Given the description of an element on the screen output the (x, y) to click on. 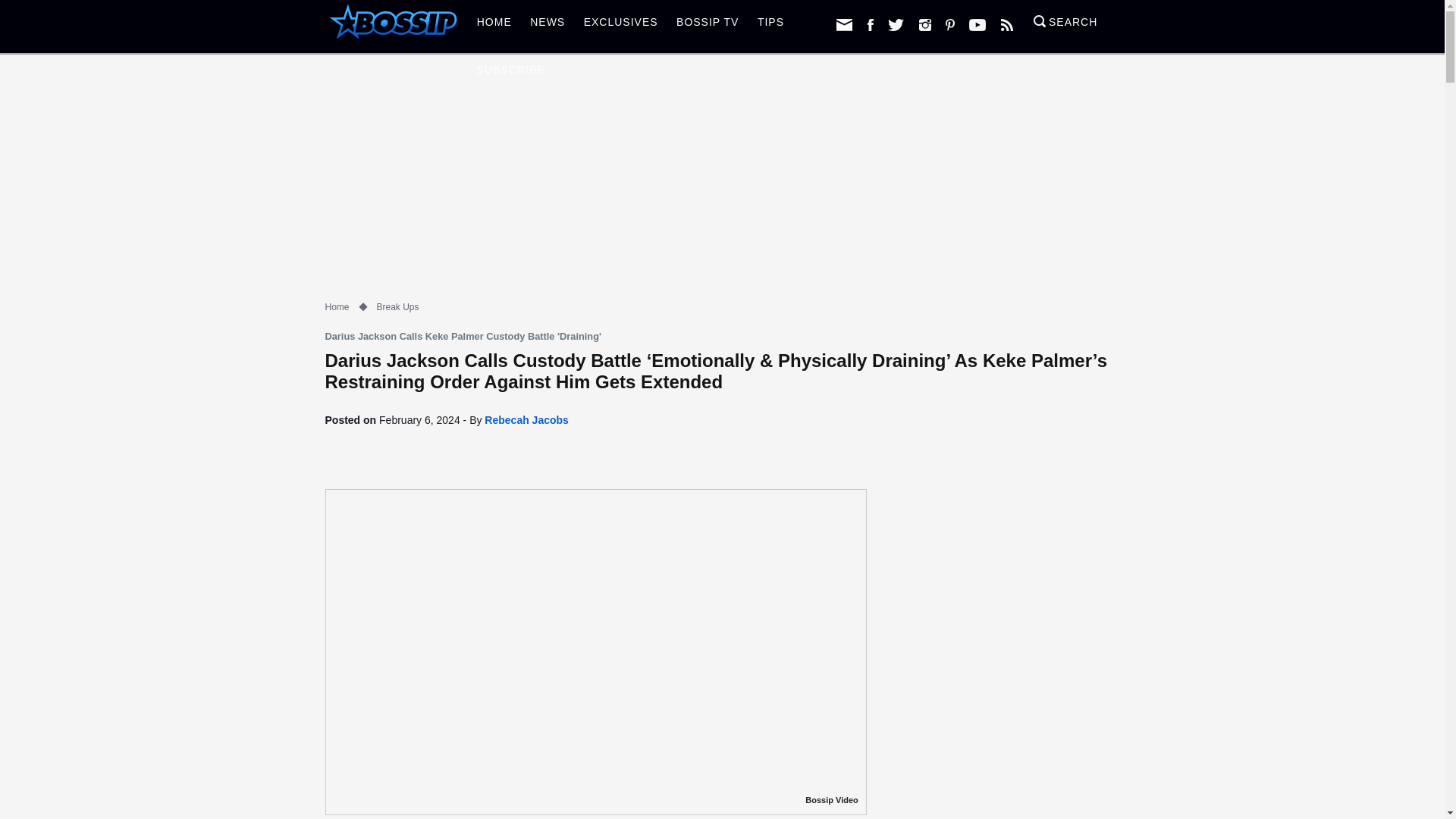
EXCLUSIVES (620, 26)
Follow Bossip on Twitter (896, 24)
TIPS (770, 26)
SEARCH (1065, 26)
Rebecah Jacobs (526, 419)
twitter (896, 24)
rss (1007, 24)
Break Ups (398, 307)
SUBSCRIBE (510, 74)
Subscribe to our newsletter (843, 24)
Subscribe to Bossip on YouTube (977, 24)
HOME (493, 26)
NEWS (547, 26)
Posts by Rebecah Jacobs (526, 419)
Follow Bossip with RSS (1007, 24)
